Given the description of an element on the screen output the (x, y) to click on. 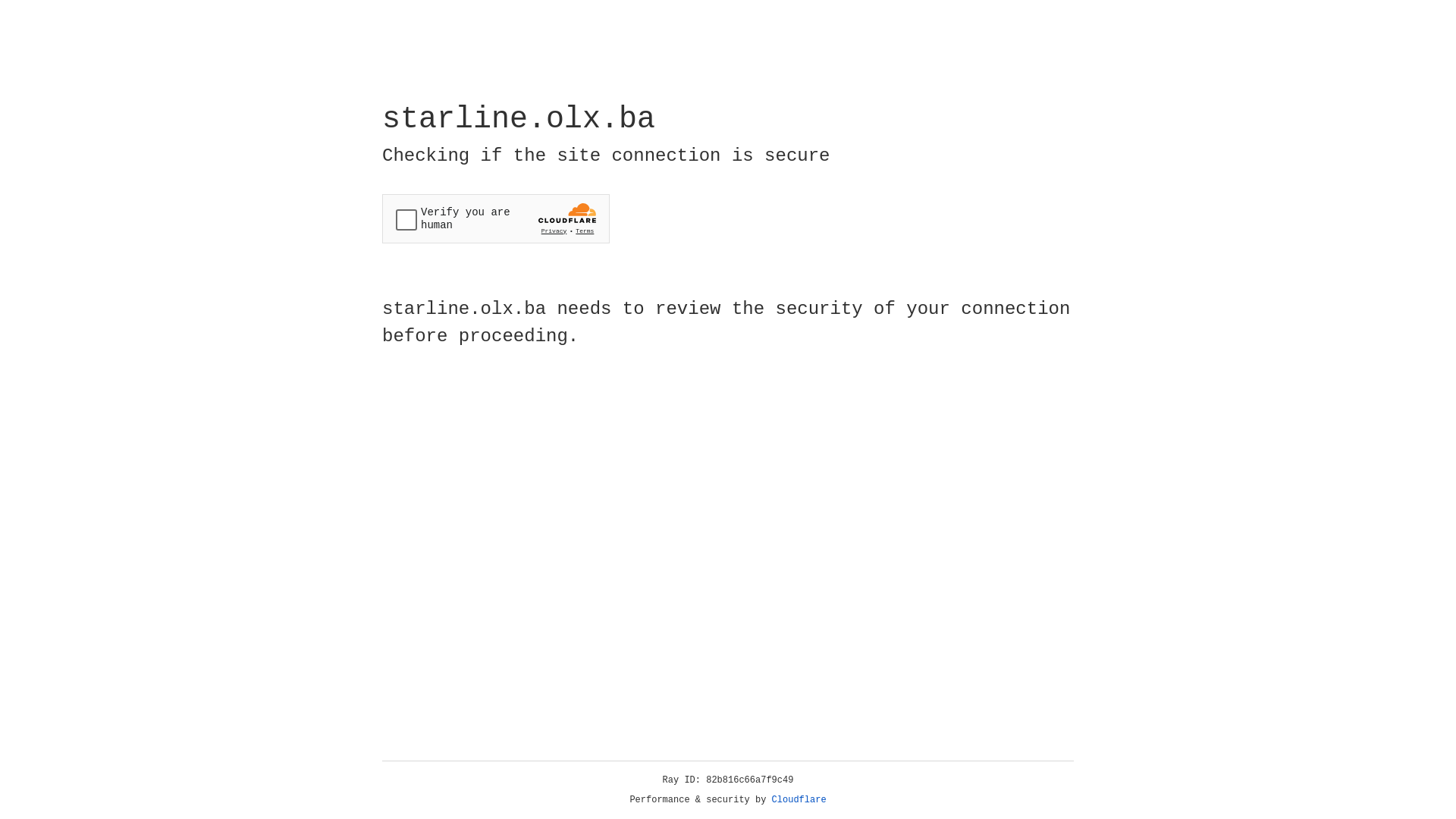
Widget containing a Cloudflare security challenge Element type: hover (495, 218)
Cloudflare Element type: text (798, 799)
